Given the description of an element on the screen output the (x, y) to click on. 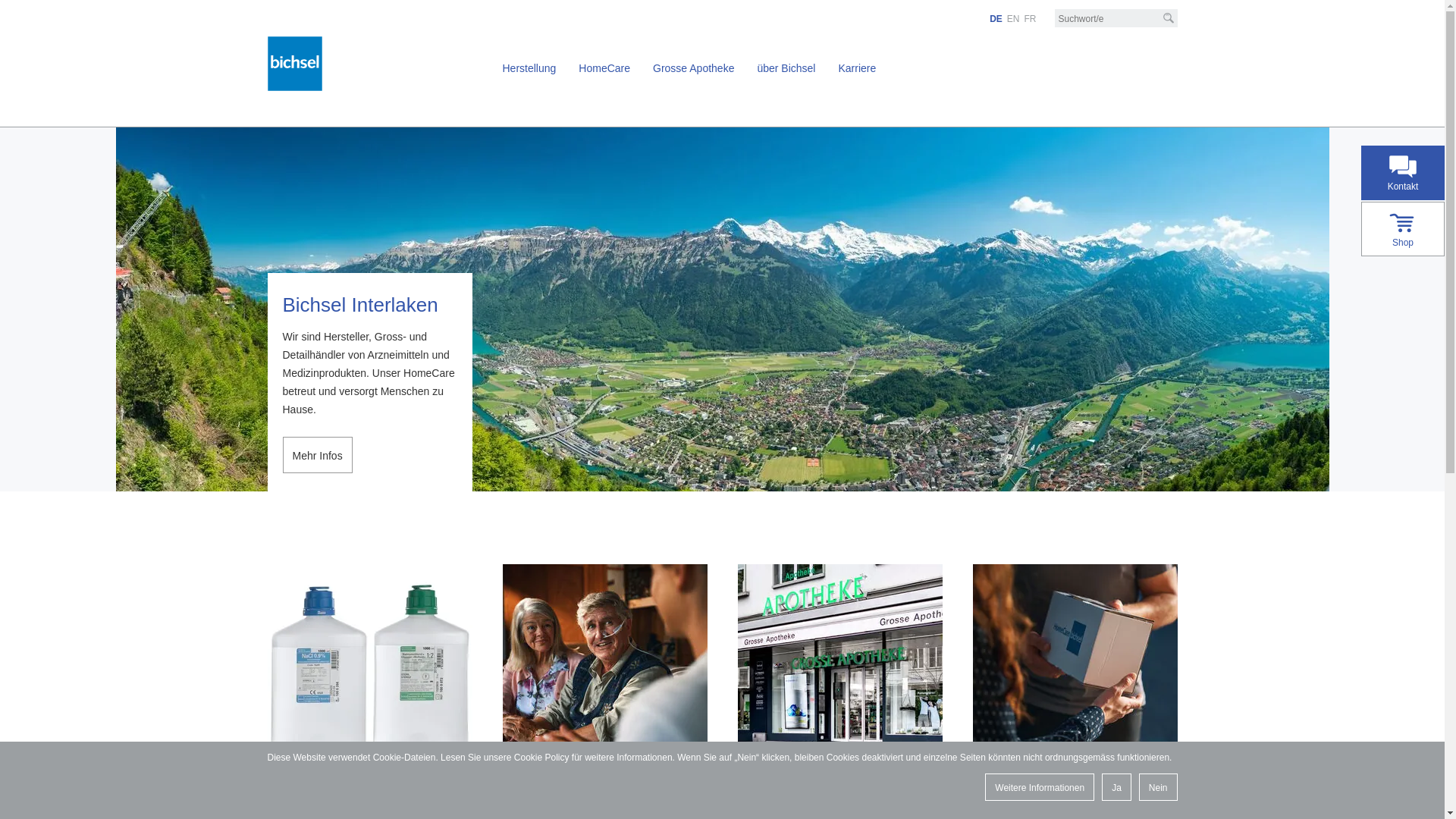
Karriere Element type: text (856, 68)
DE Element type: text (995, 18)
Bichsel AG - Zur Startseite Element type: hover (293, 71)
Kontakt Element type: text (1402, 172)
EN Element type: text (1013, 18)
[Accesskey + 0]
Home Element type: text (8, 6)
Ja Element type: text (1116, 786)
Nein Element type: text (1158, 786)
Grosse Apotheke Element type: text (693, 68)
HomeCare Element type: text (604, 68)
Herstellung Element type: text (528, 68)
Shop Element type: text (1402, 228)
Mehr Infos Element type: text (316, 454)
Weitere Informationen Element type: text (1039, 786)
FR Element type: text (1029, 18)
